Given the description of an element on the screen output the (x, y) to click on. 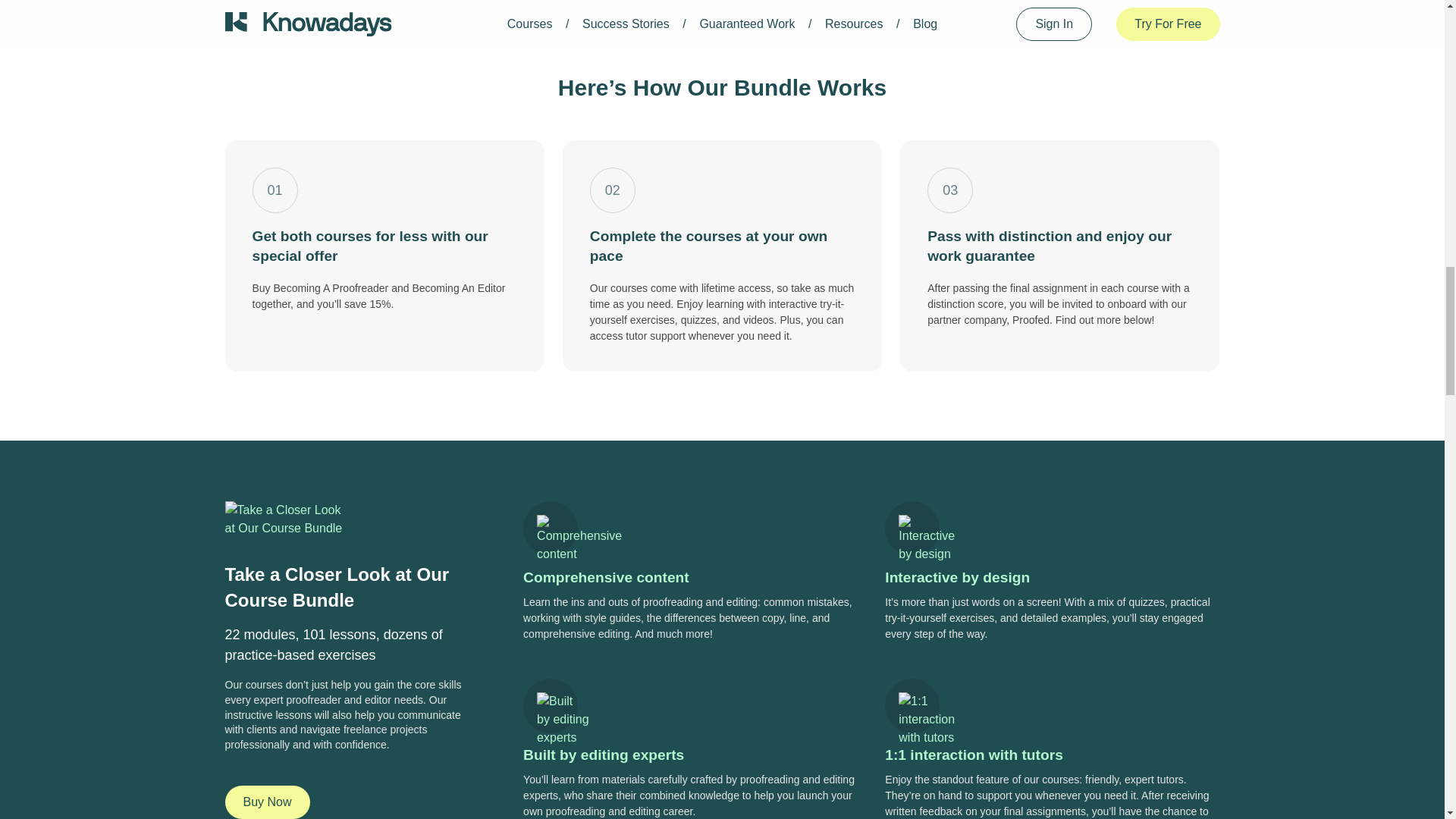
Buy Now (266, 802)
